Given the description of an element on the screen output the (x, y) to click on. 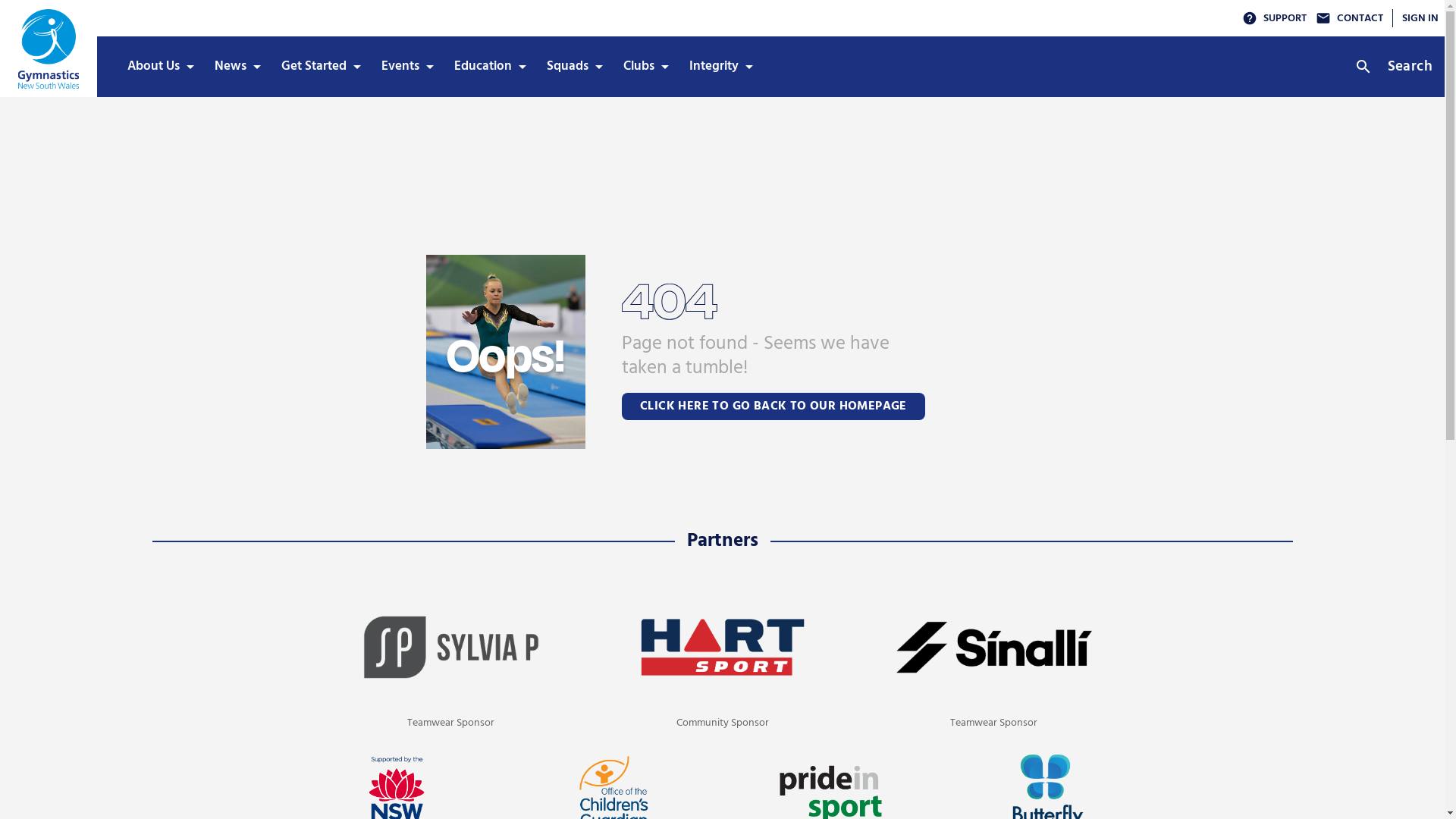
Clubs Element type: text (644, 66)
Partners Element type: text (722, 541)
Education Element type: text (488, 66)
News Element type: text (235, 66)
SUPPORT Element type: text (1274, 18)
Events Element type: text (405, 66)
About Us Element type: text (158, 66)
Get Started Element type: text (319, 66)
Squads Element type: text (572, 66)
Search Element type: text (1396, 66)
Integrity Element type: text (719, 66)
SIGN IN Element type: text (1420, 18)
CLICK HERE TO GO BACK TO OUR HOMEPAGE Element type: text (773, 406)
SIGN IN Element type: text (1415, 18)
CONTACT Element type: text (1349, 18)
